Given the description of an element on the screen output the (x, y) to click on. 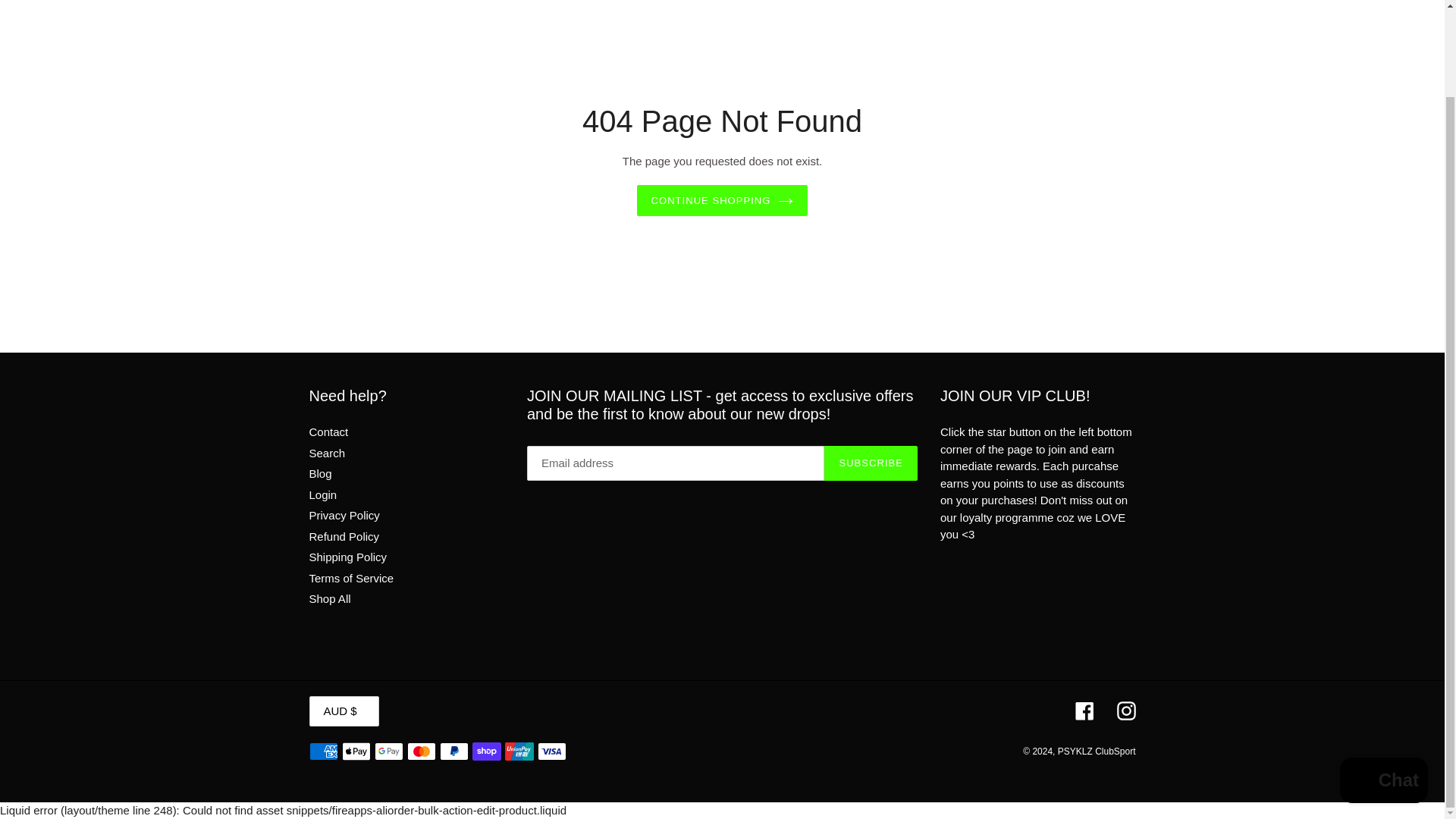
Contact (328, 431)
Login (322, 494)
Search (327, 452)
Shipping Policy (347, 556)
SUBSCRIBE (870, 462)
Terms of Service (351, 577)
Privacy Policy (344, 514)
Shop All (329, 598)
Shopify online store chat (1383, 683)
CONTINUE SHOPPING (722, 201)
